Given the description of an element on the screen output the (x, y) to click on. 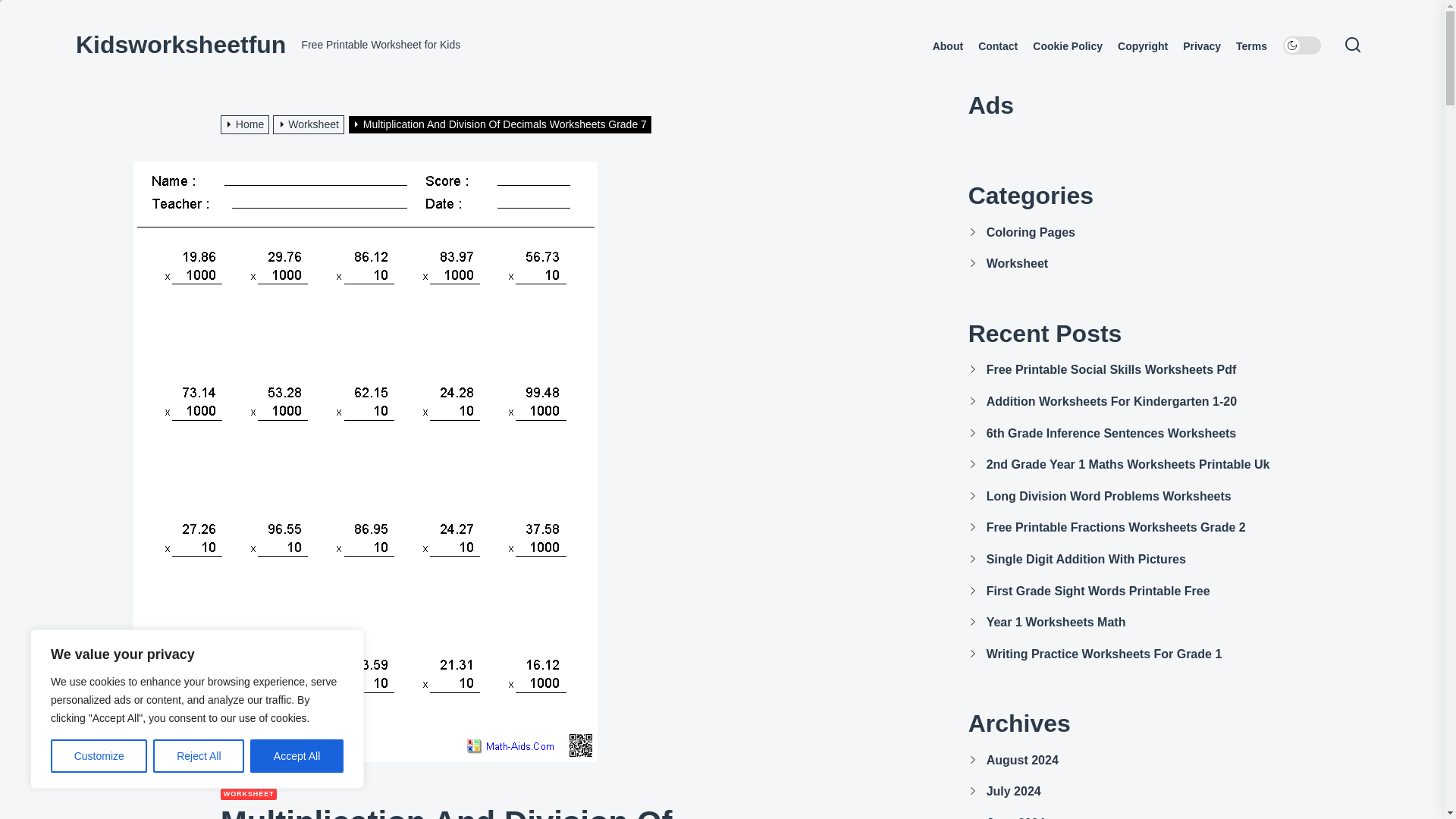
Multiplication And Division Of Decimals Worksheets Grade 7 (501, 123)
Customize (98, 756)
Reject All (198, 756)
Kidsworksheetfun (180, 44)
Contact (997, 46)
Home (247, 123)
Accept All (296, 756)
Copyright (1142, 46)
Privacy (1201, 46)
Terms (1251, 46)
